Given the description of an element on the screen output the (x, y) to click on. 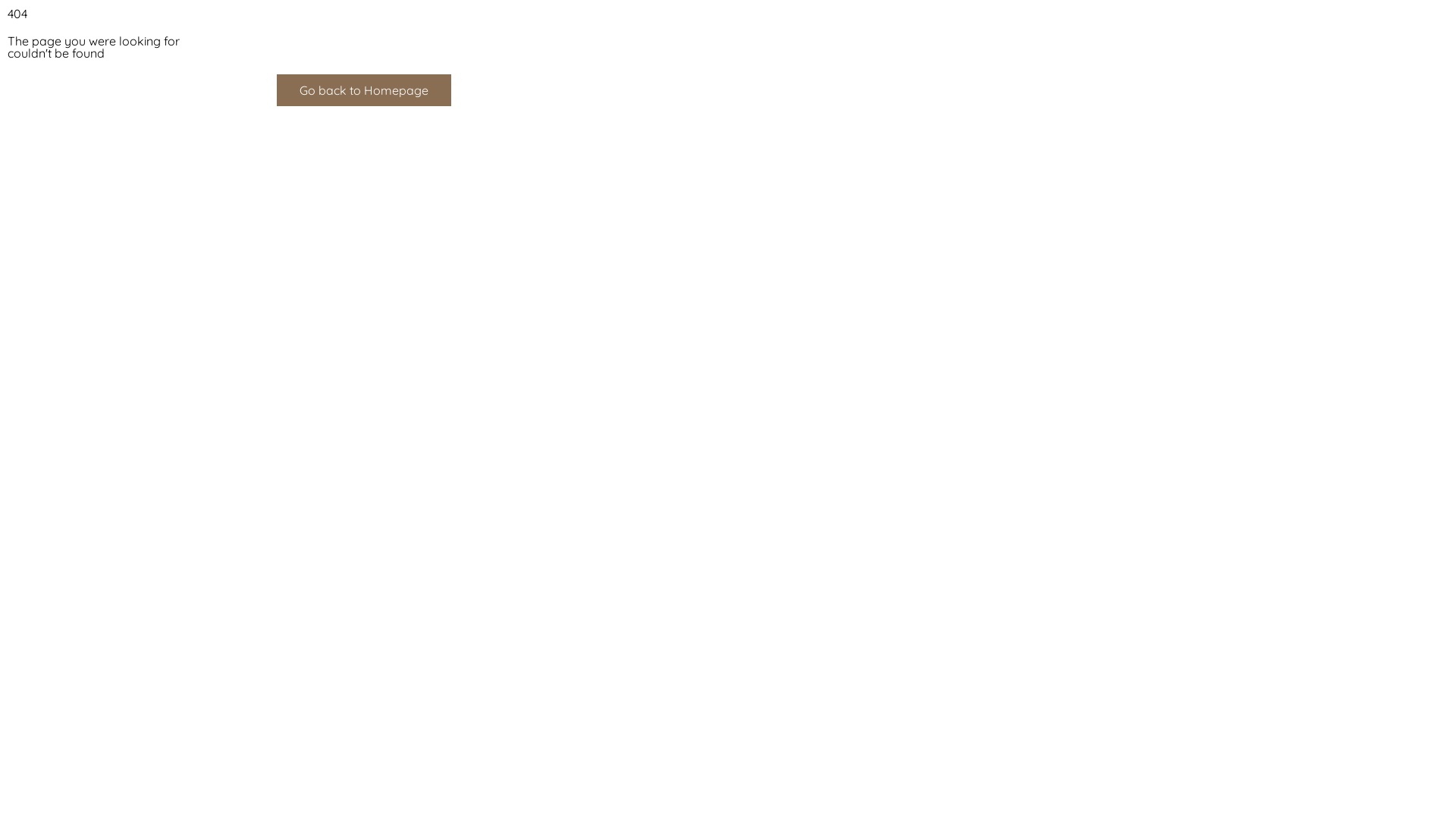
Go back to Homepage Element type: text (363, 90)
